Given the description of an element on the screen output the (x, y) to click on. 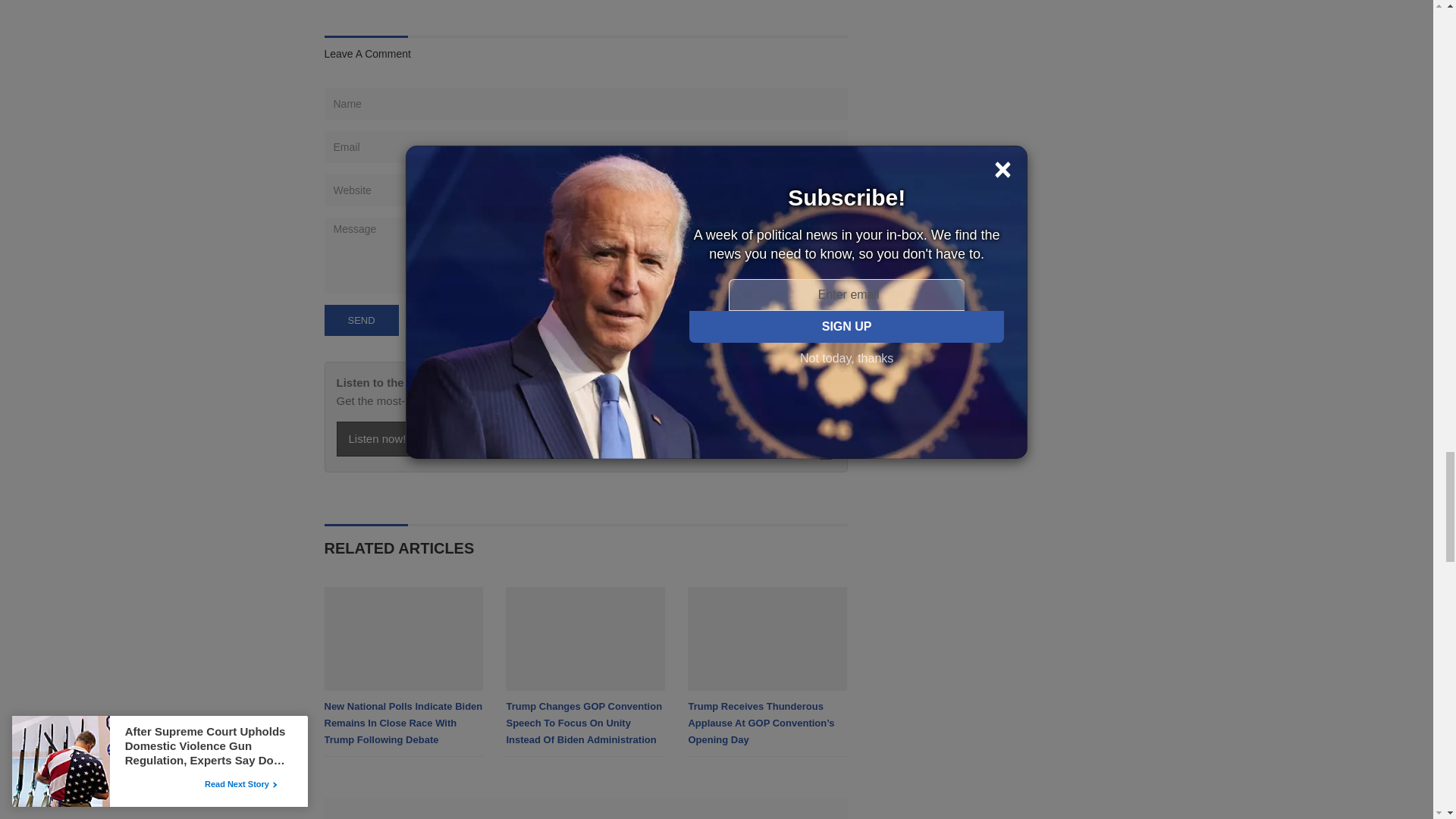
Send (361, 319)
